Given the description of an element on the screen output the (x, y) to click on. 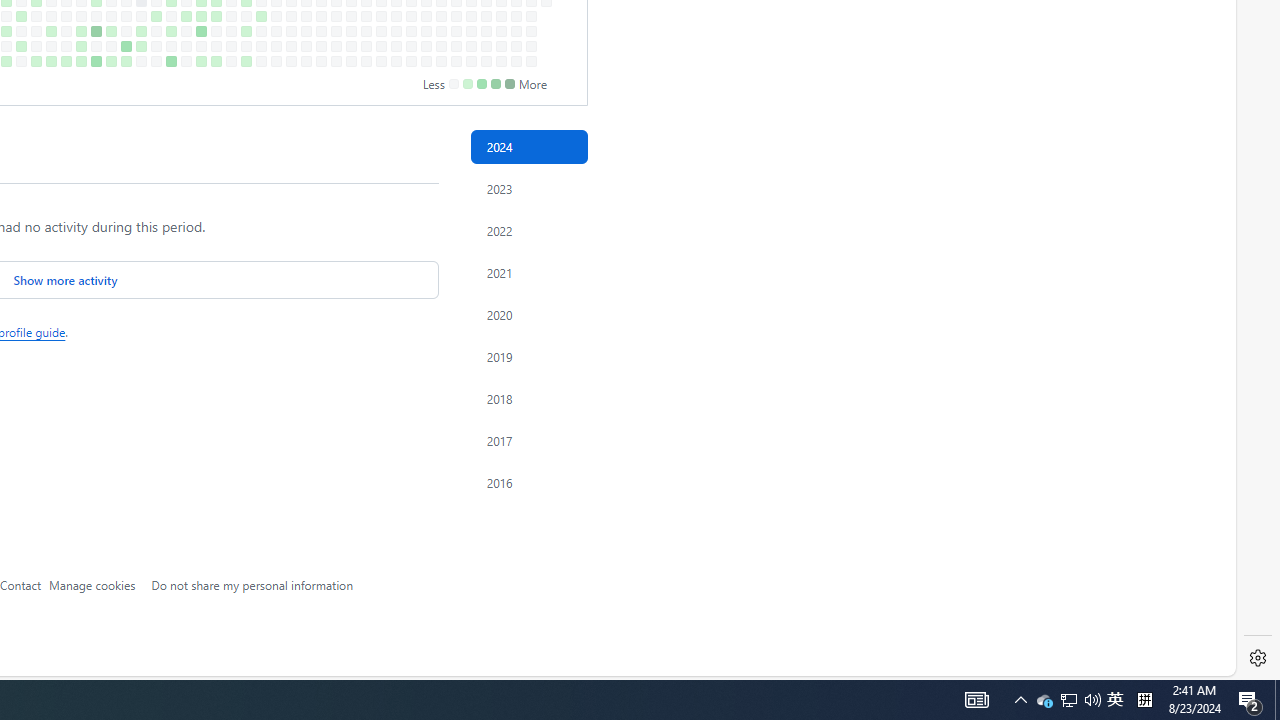
No contributions on October 12th. (366, 61)
No contributions on September 28th. (336, 61)
No contributions on October 19th. (381, 61)
No contributions on September 7th. (290, 61)
No contributions on November 15th. (441, 46)
2 contributions on June 22nd. (126, 61)
No contributions on October 25th. (395, 46)
2020 (528, 314)
2024 (528, 147)
No contributions on November 23rd. (456, 61)
3 contributions on June 15th. (111, 61)
No contributions on July 20th. (186, 61)
1 contribution on August 3rd. (216, 61)
Contribution activity in 2018 (528, 399)
No contributions on November 8th. (426, 46)
